Given the description of an element on the screen output the (x, y) to click on. 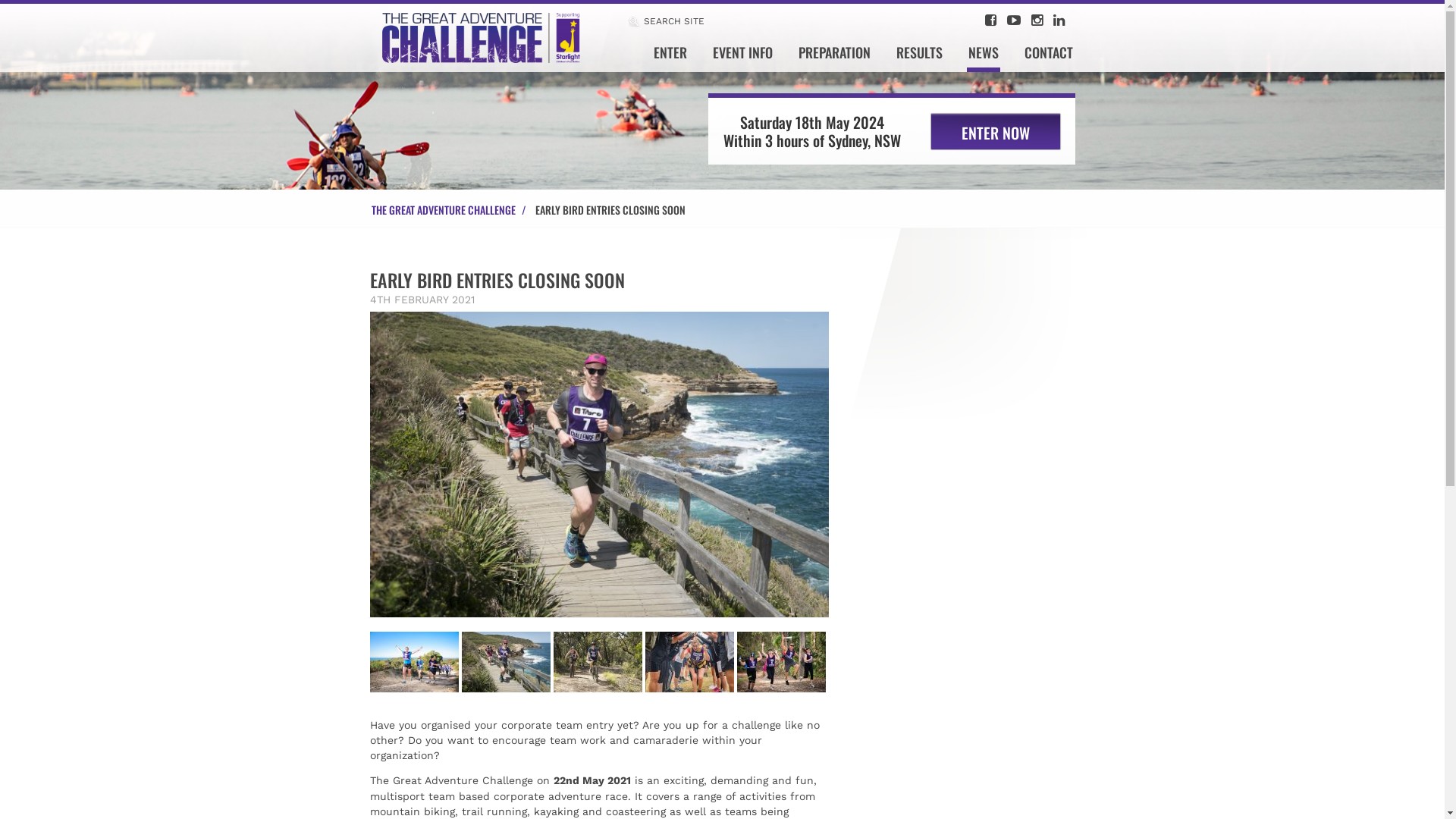
NEWS Element type: text (983, 57)
RESULTS Element type: text (919, 57)
MAGAC19-0173-2 Element type: hover (599, 466)
GACRNP17-5354 Element type: hover (688, 661)
MAGAC19-0173-2 Element type: hover (505, 661)
EVENT INFO Element type: text (742, 57)
Go Element type: text (11, 8)
MAGAC19-0095-2 Element type: hover (597, 661)
ENTER Element type: text (670, 57)
ENTER NOW Element type: text (995, 131)
The Great Adventure Challenge Element type: hover (481, 36)
THE GREAT ADVENTURE CHALLENGE Element type: text (452, 209)
CONTACT Element type: text (1048, 57)
PREPARATION Element type: text (834, 57)
Great Adventure Challenge 2016 Element type: hover (781, 661)
Great Adventure Challenge, 2019 Element type: hover (414, 661)
Skip to content Element type: text (368, 71)
